Given the description of an element on the screen output the (x, y) to click on. 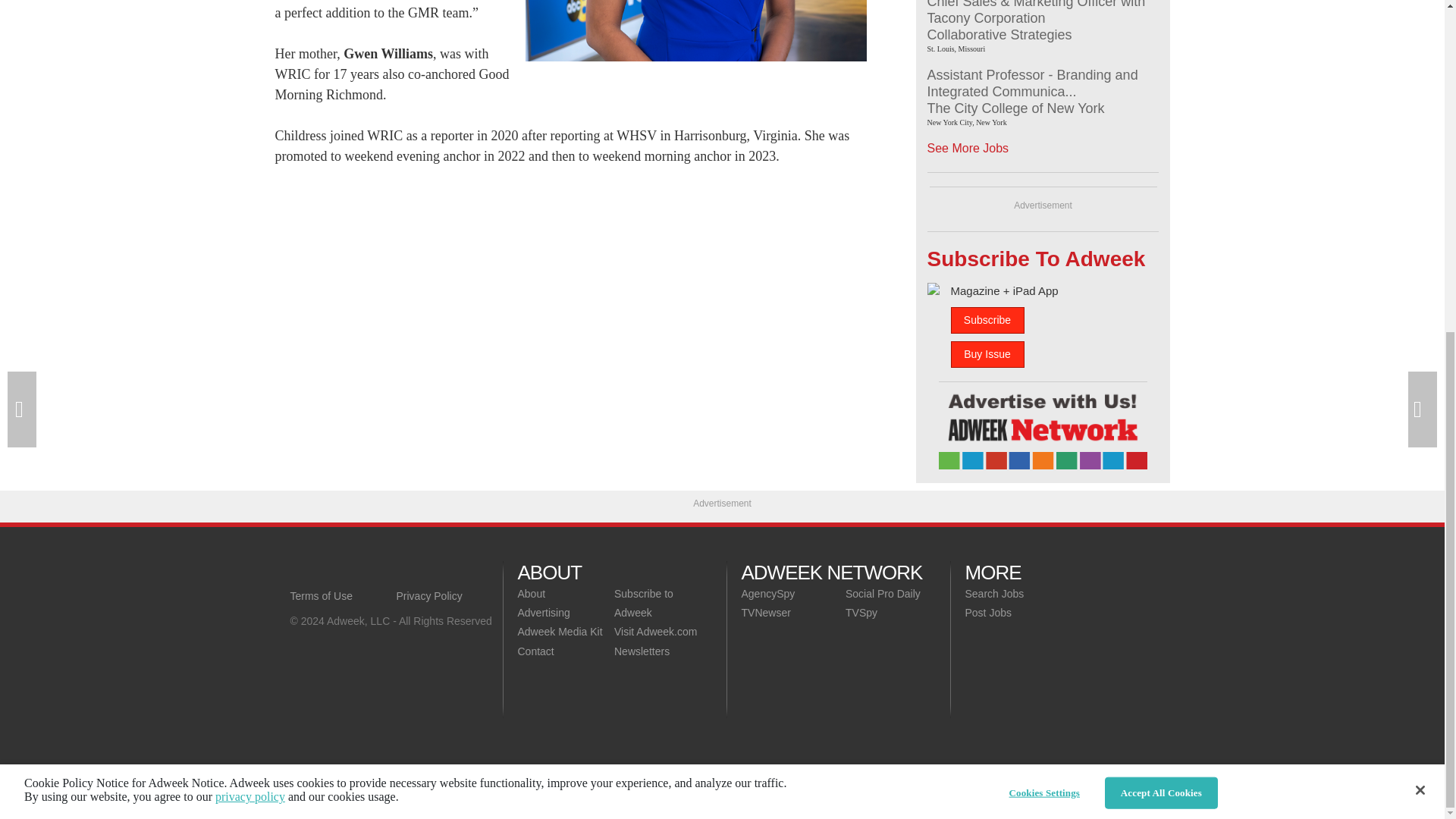
Covering local television news (395, 572)
